Given the description of an element on the screen output the (x, y) to click on. 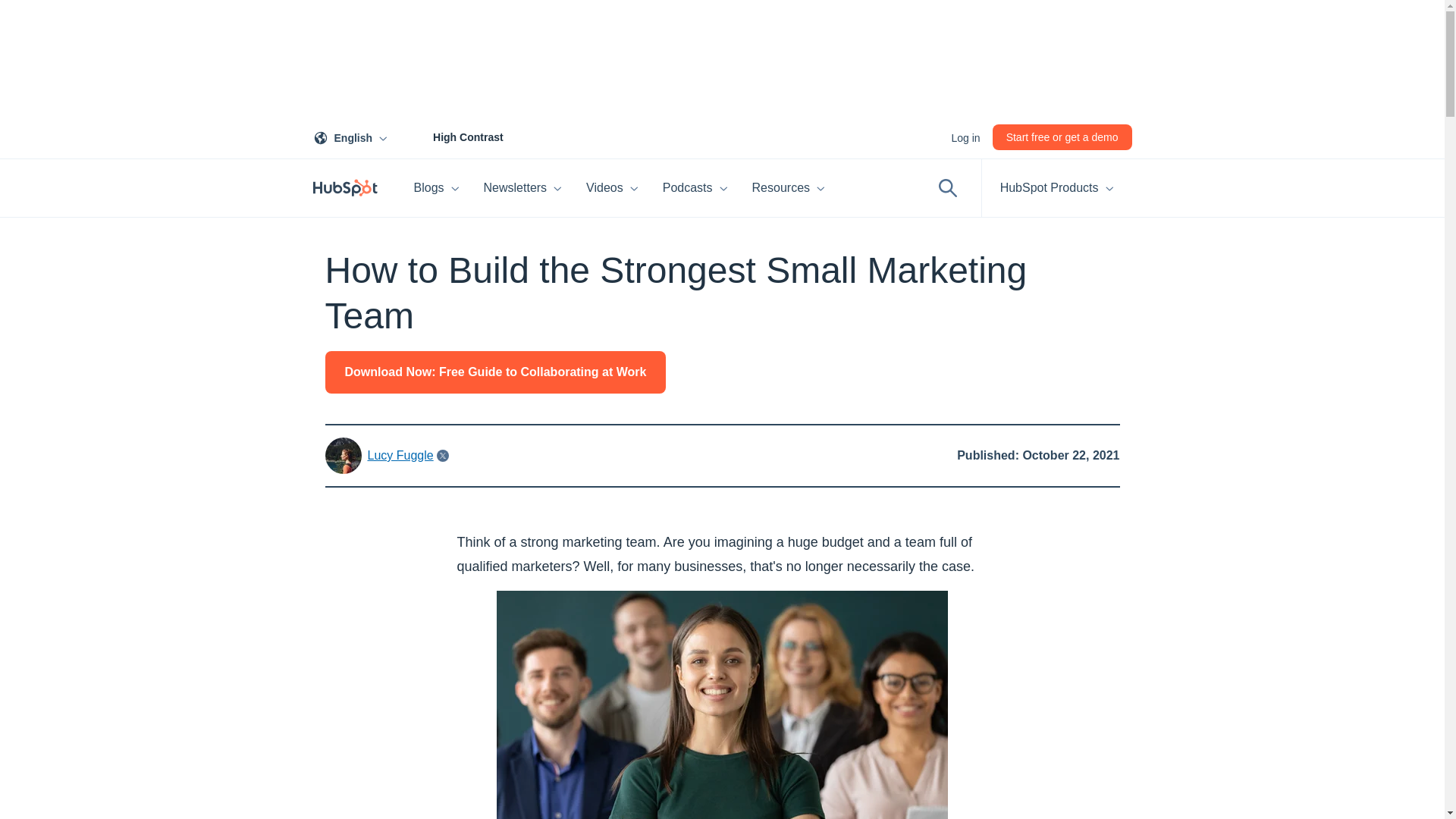
High Contrast (450, 137)
Videos (611, 187)
Blogs (436, 187)
Newsletters (353, 136)
Log in (523, 187)
Start free or get a demo (964, 137)
